Given the description of an element on the screen output the (x, y) to click on. 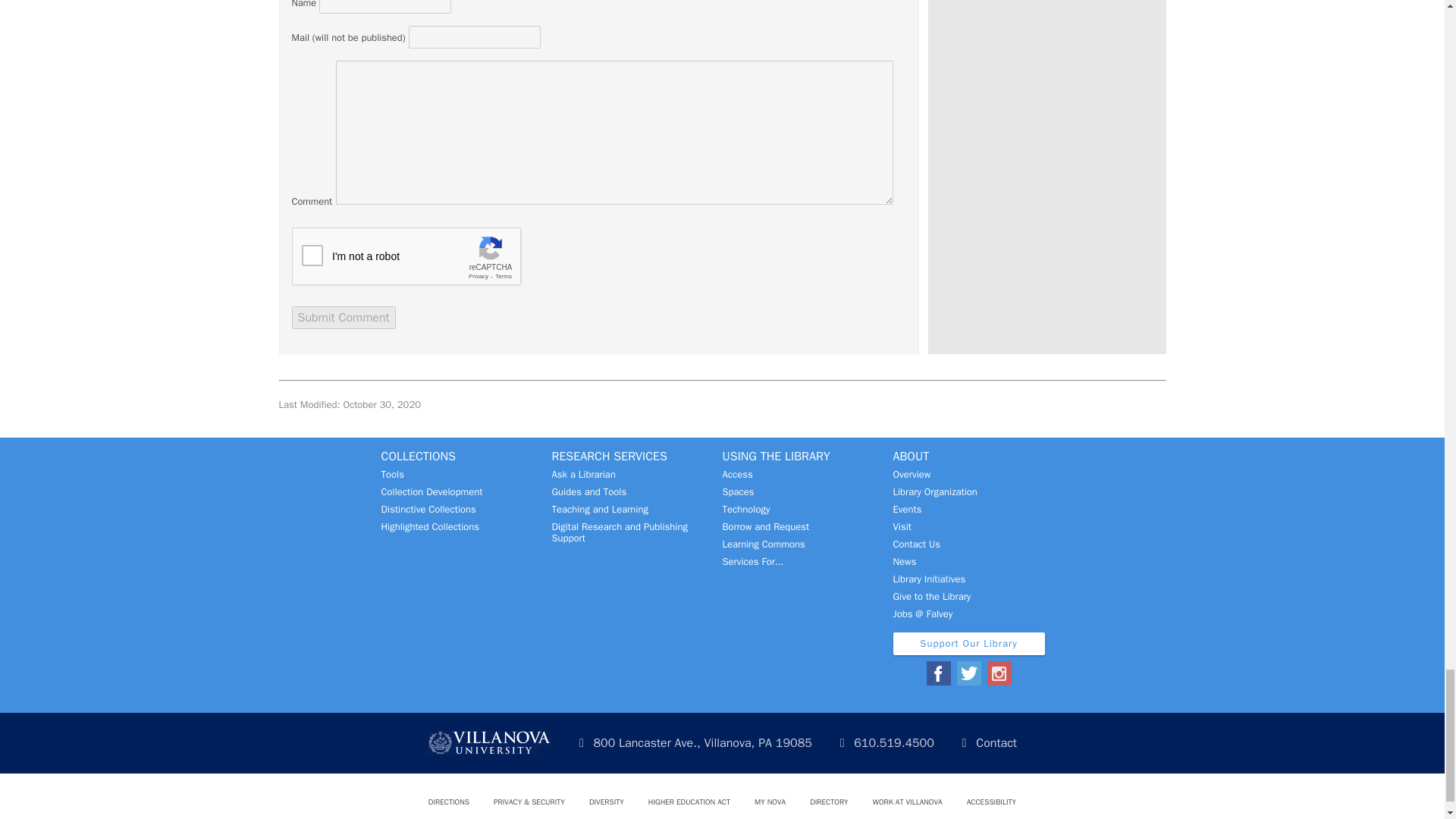
reCAPTCHA (406, 256)
Submit Comment (342, 317)
